Given the description of an element on the screen output the (x, y) to click on. 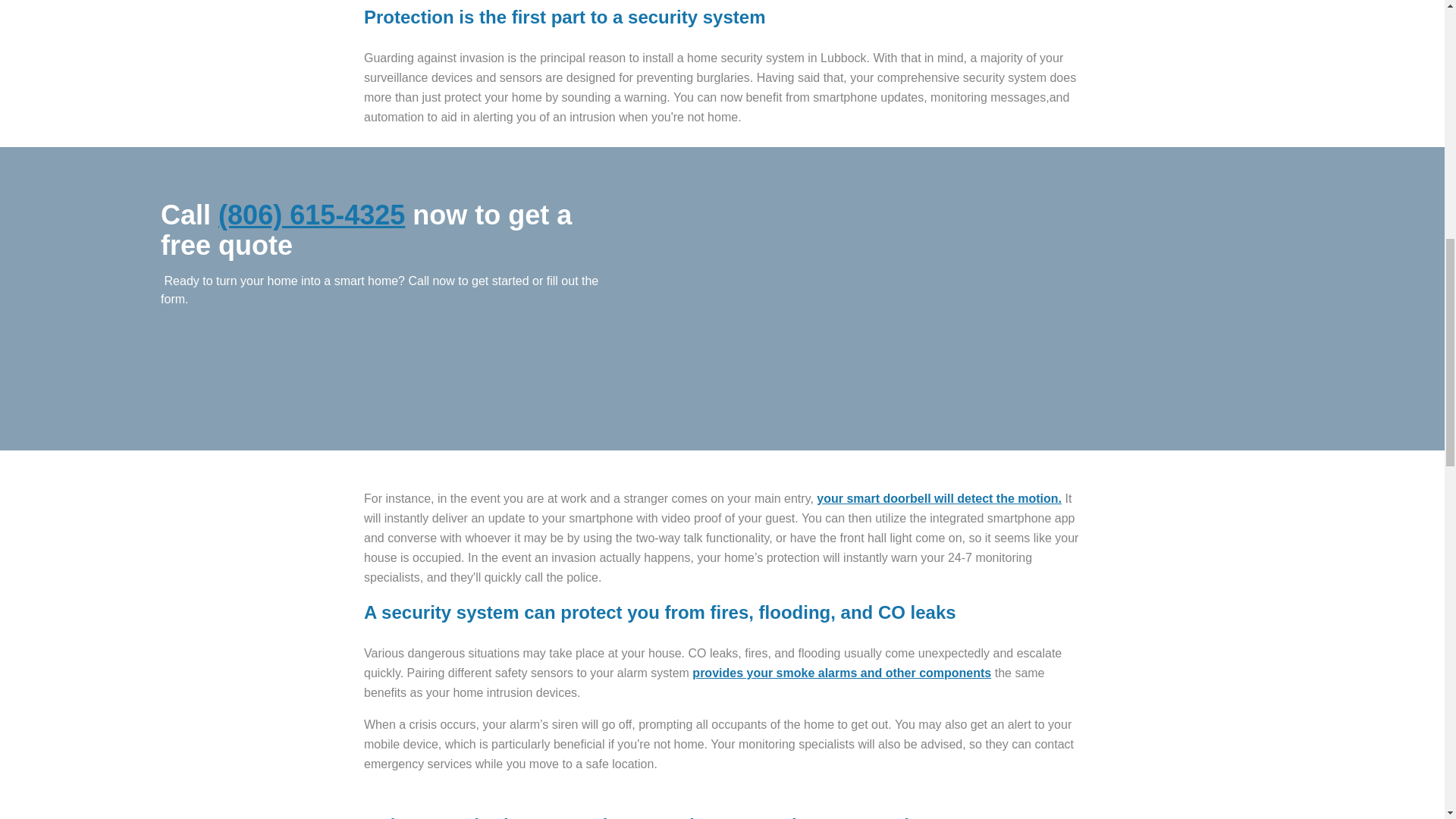
provides your smoke alarms and other components (842, 672)
your smart doorbell will detect the motion. (938, 498)
